Given the description of an element on the screen output the (x, y) to click on. 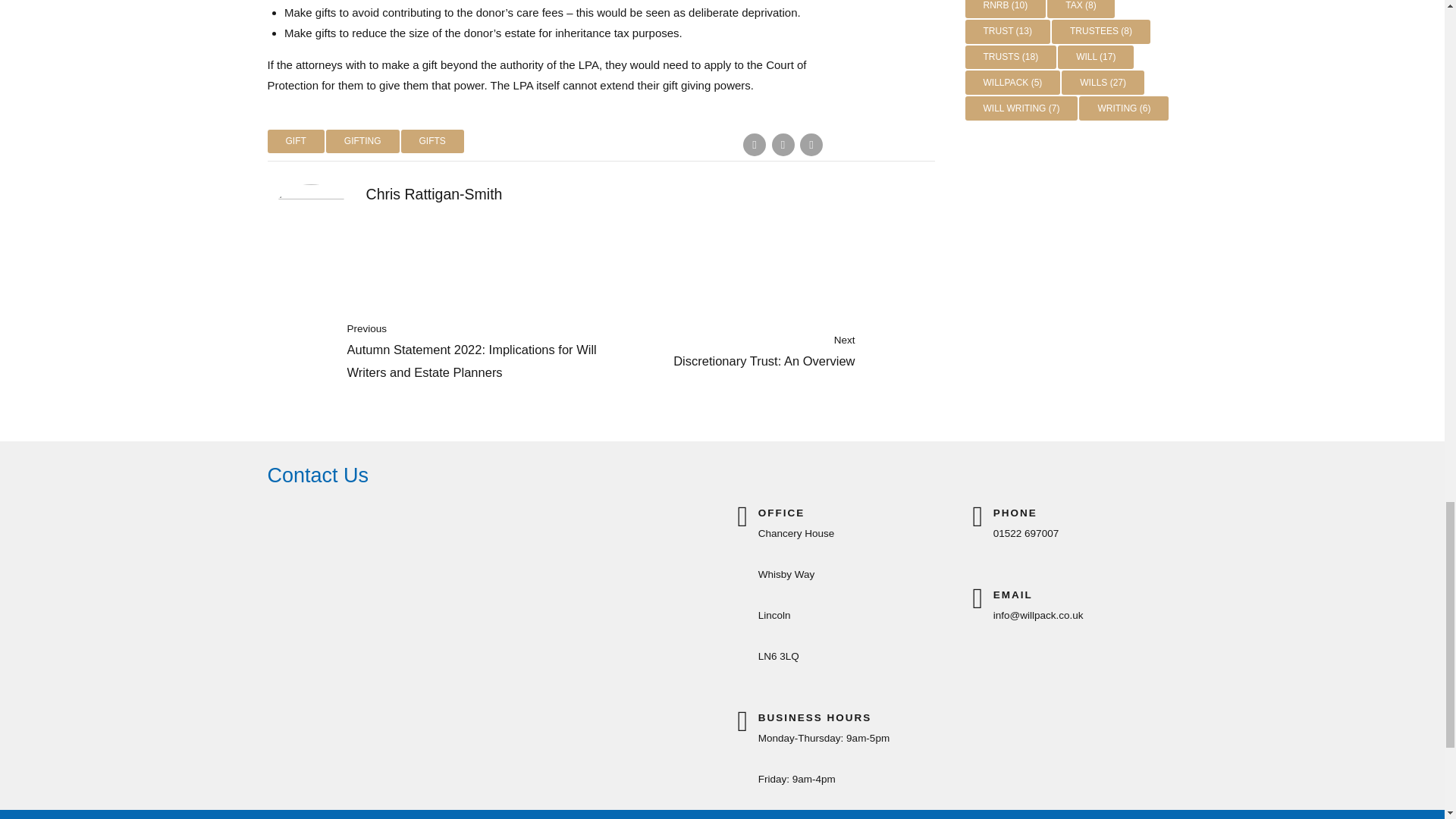
Share on Linkedin (810, 144)
GIFT (294, 140)
GIFTING (362, 140)
Share on Facebook (753, 144)
GIFTS (431, 140)
Share on Twitter (782, 144)
